Given the description of an element on the screen output the (x, y) to click on. 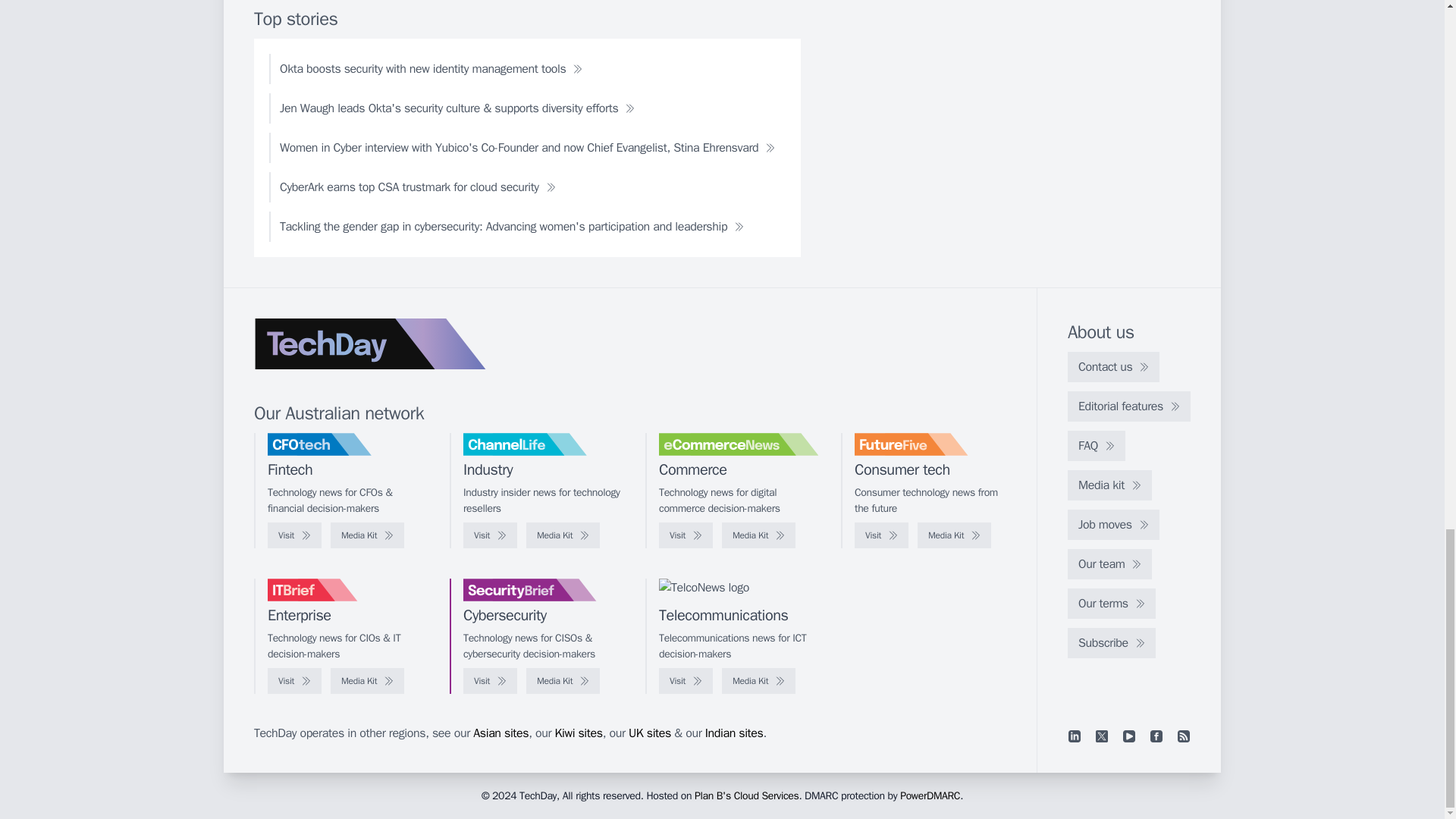
Visit (294, 534)
Visit (686, 534)
Media Kit (367, 680)
Visit (489, 534)
Media Kit (758, 534)
Media Kit (562, 534)
CyberArk earns top CSA trustmark for cloud security (417, 186)
Visit (294, 680)
Okta boosts security with new identity management tools (430, 69)
